Given the description of an element on the screen output the (x, y) to click on. 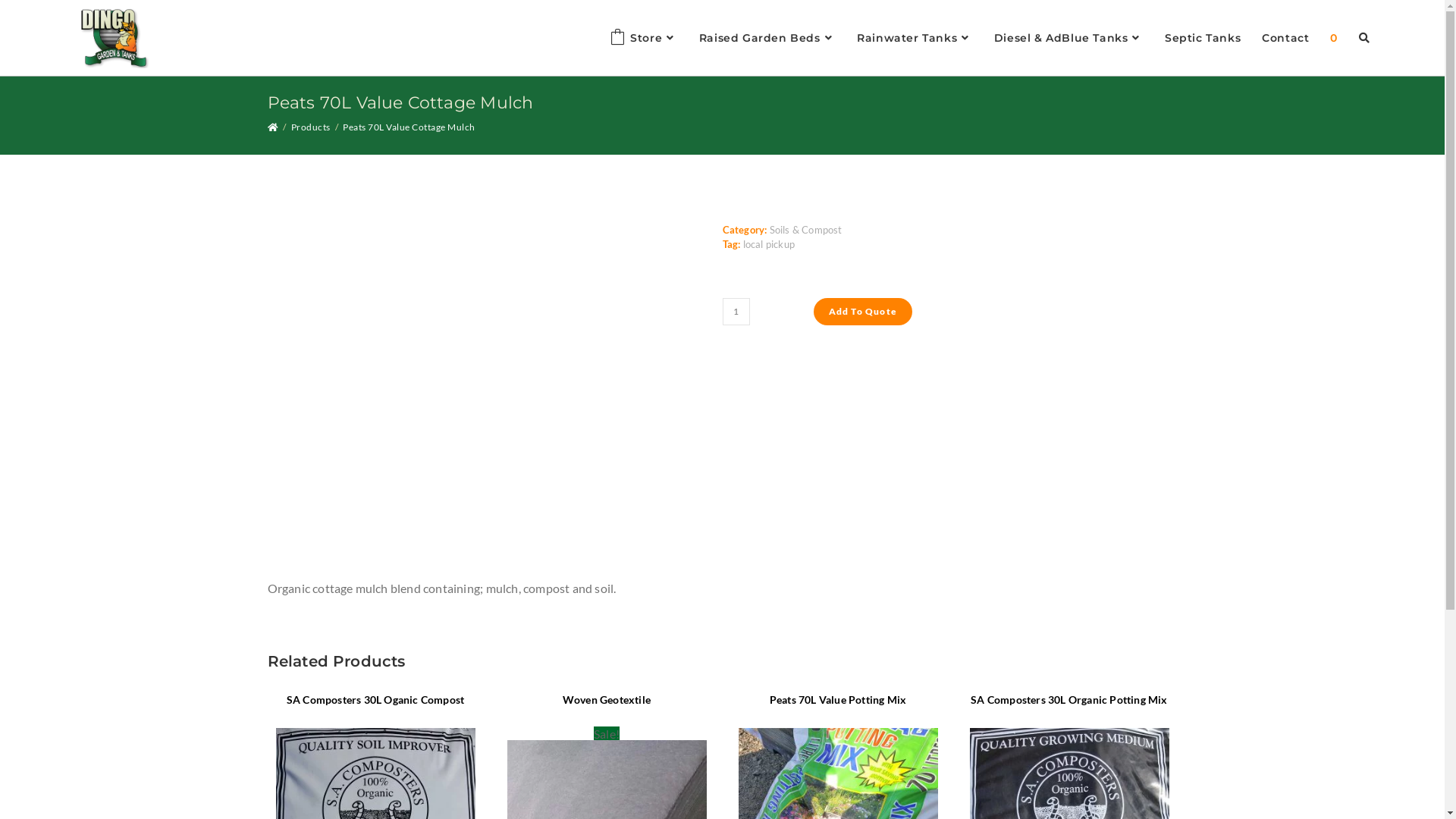
Woven Geotextile Element type: text (606, 699)
Toggle Website Search Element type: text (1364, 37)
local pickup Element type: text (768, 244)
Septic Tanks Element type: text (1202, 37)
Products Element type: text (310, 126)
SA Composters 30L Oganic Compost Element type: text (375, 699)
Contact Element type: text (1285, 37)
Peats 70L Value Cottage Mulch Element type: text (408, 126)
Raised Garden Beds Element type: text (767, 37)
SA Composters 30L Organic Potting Mix Element type: text (1068, 699)
Store Element type: text (643, 37)
Rainwater Tanks Element type: text (914, 37)
Diesel & AdBlue Tanks Element type: text (1068, 37)
0 Element type: text (1333, 37)
Peats 70L Value Potting Mix Element type: text (837, 699)
Add To Quote Element type: text (861, 311)
Soils & Compost Element type: text (804, 229)
